Given the description of an element on the screen output the (x, y) to click on. 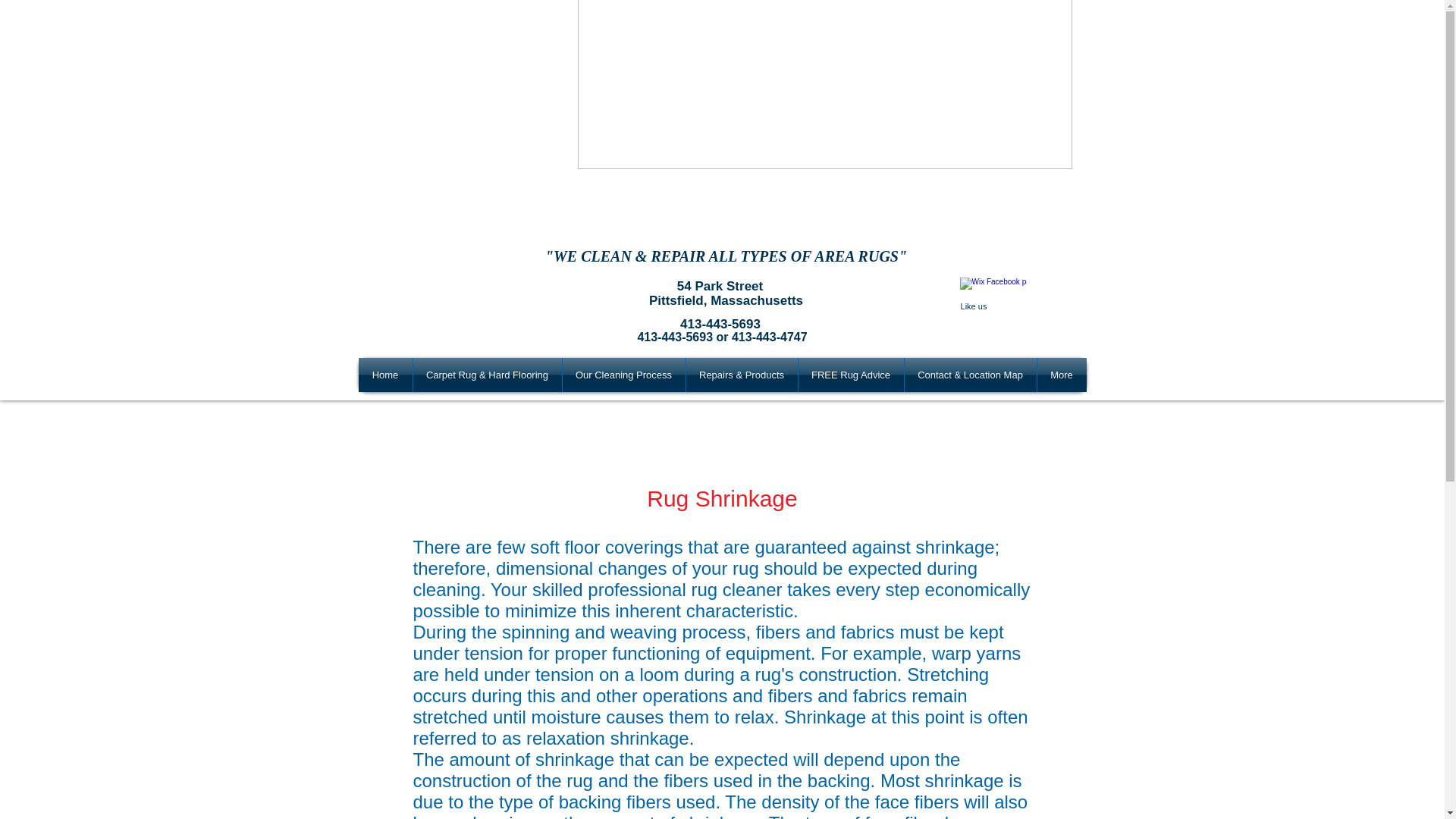
54 Park Street (719, 286)
Pittsfield, Massachusetts (725, 300)
Haddad New Logo 5.JPG (825, 85)
Our Cleaning Process (623, 374)
FREE Rug Advice (849, 374)
413-443-5693 (720, 323)
Home (385, 374)
